Given the description of an element on the screen output the (x, y) to click on. 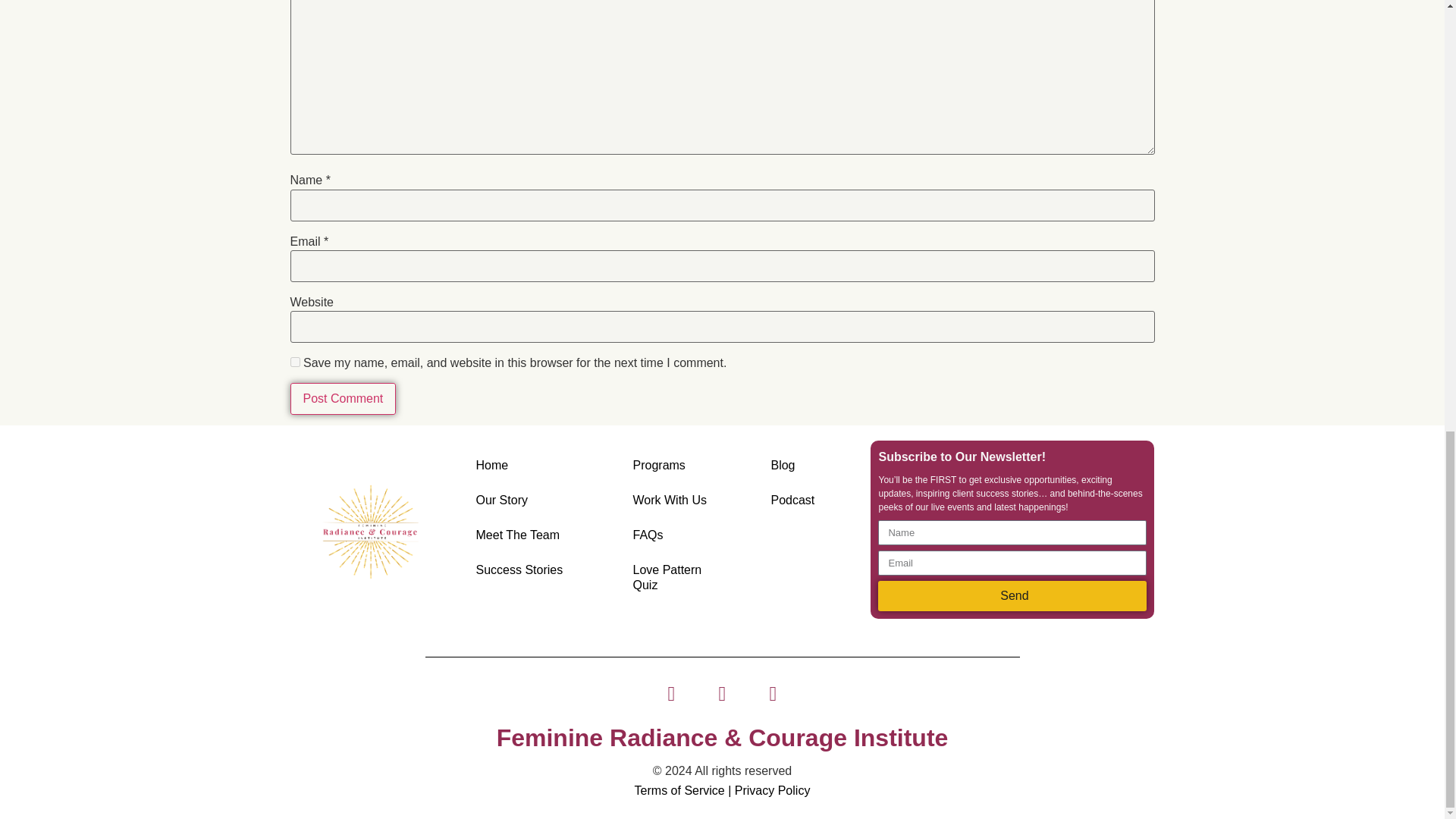
Post Comment (342, 398)
yes (294, 361)
